Given the description of an element on the screen output the (x, y) to click on. 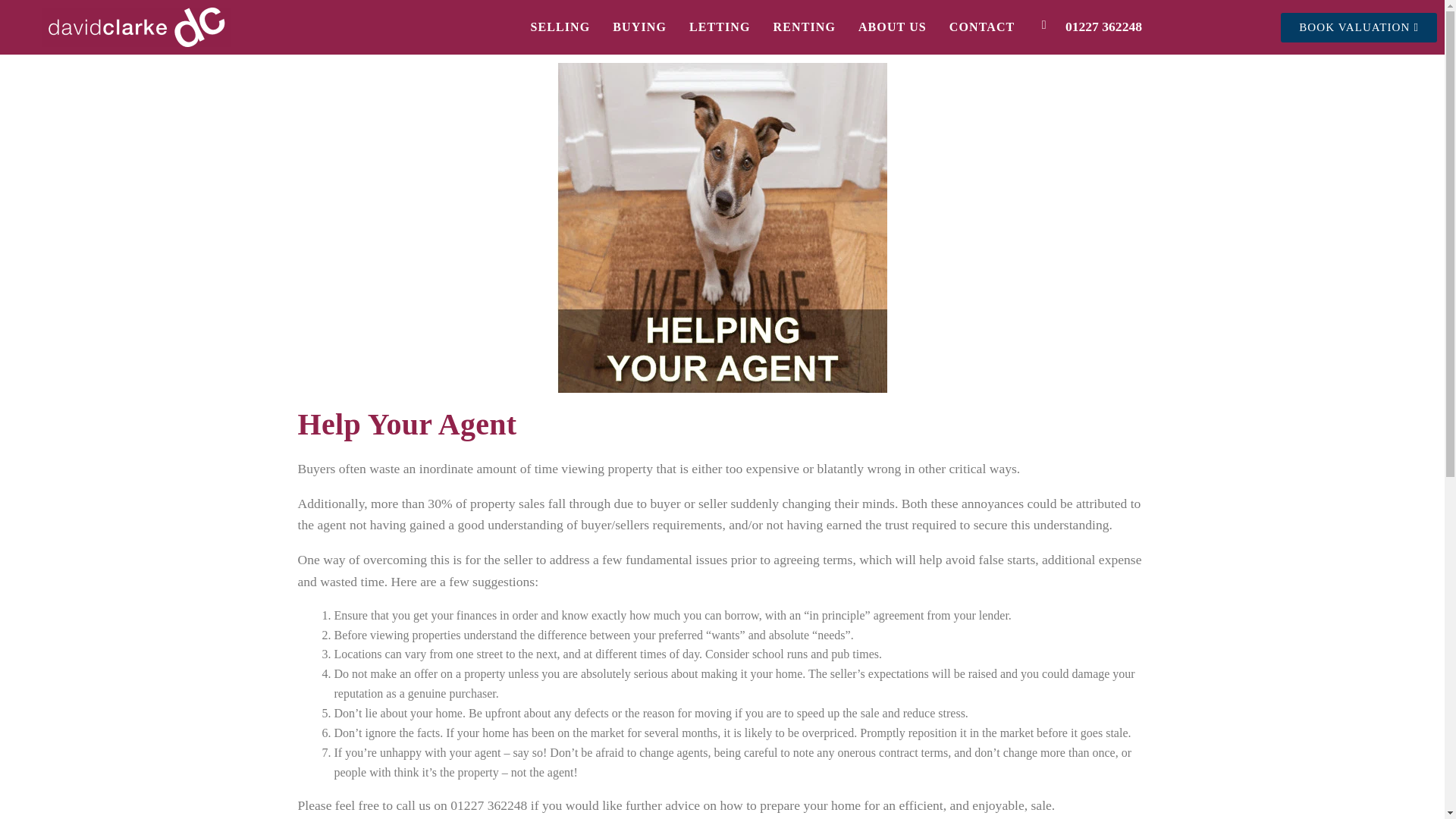
BUYING (639, 27)
ABOUT US (892, 27)
RENTING (804, 27)
LETTING (719, 27)
CONTACT (982, 27)
SELLING (559, 27)
